Given the description of an element on the screen output the (x, y) to click on. 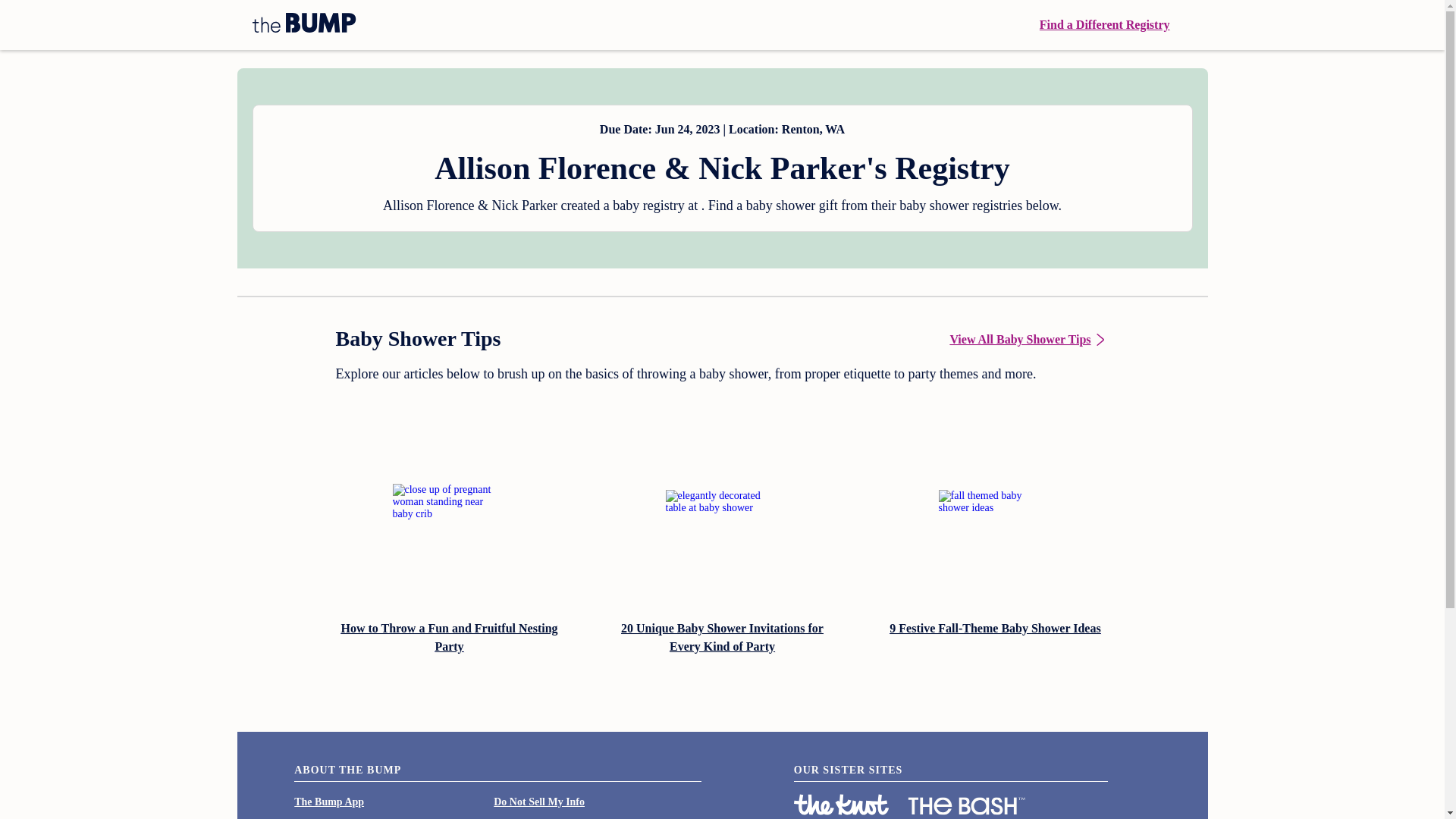
View All Baby Shower Tips (1028, 339)
The Bump App (329, 801)
Do Not Sell My Info (539, 801)
Find a Different Registry (1104, 24)
